Given the description of an element on the screen output the (x, y) to click on. 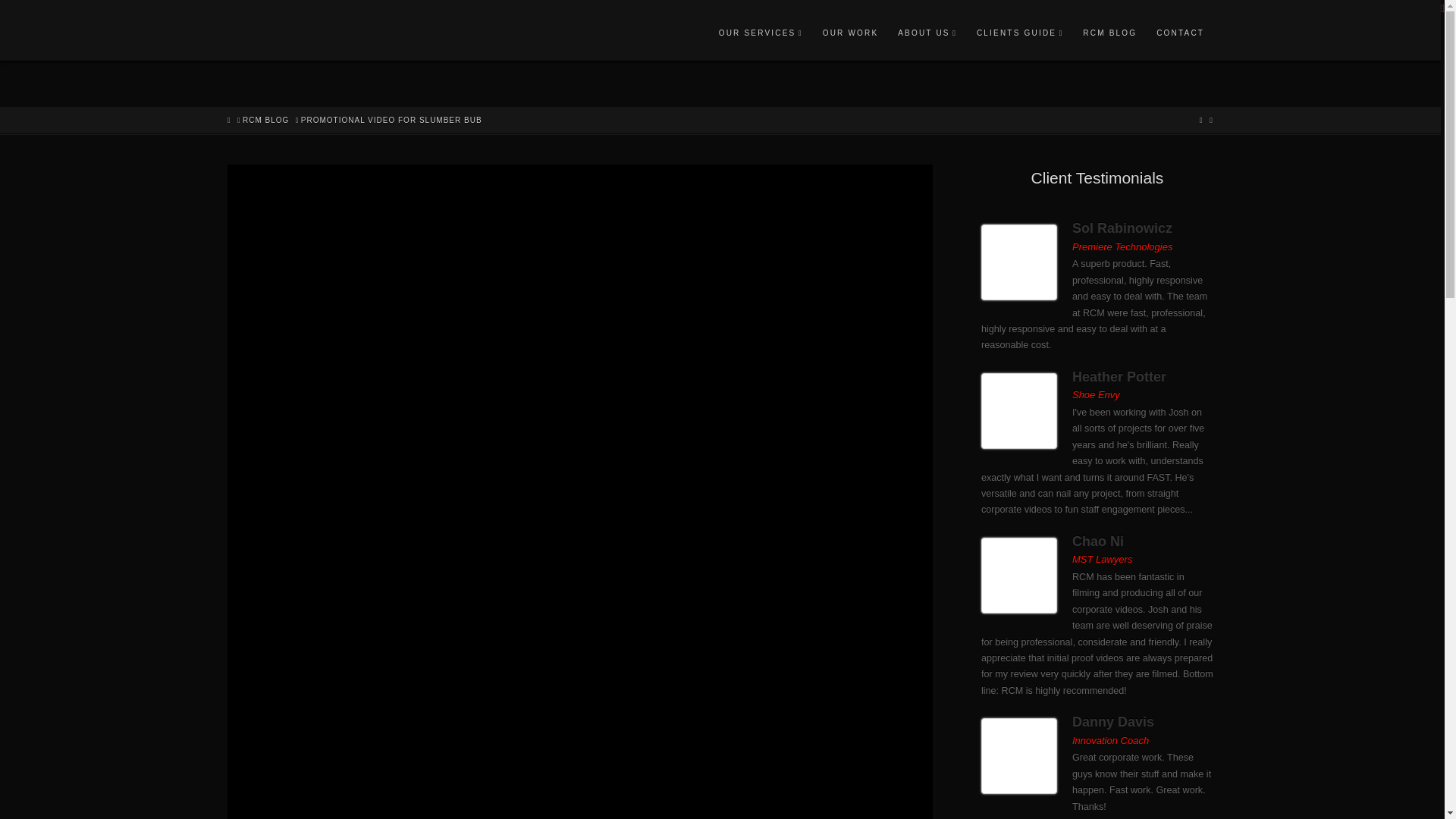
Our Services (759, 30)
RCM BLOG (1108, 30)
CONTACT (1178, 30)
Corporate Video Production Melbourne (379, 33)
About Us (926, 30)
ABOUT US (926, 30)
OUR SERVICES (759, 30)
CLIENTS GUIDE (1018, 30)
Our Work (850, 30)
OUR WORK (850, 30)
